Given the description of an element on the screen output the (x, y) to click on. 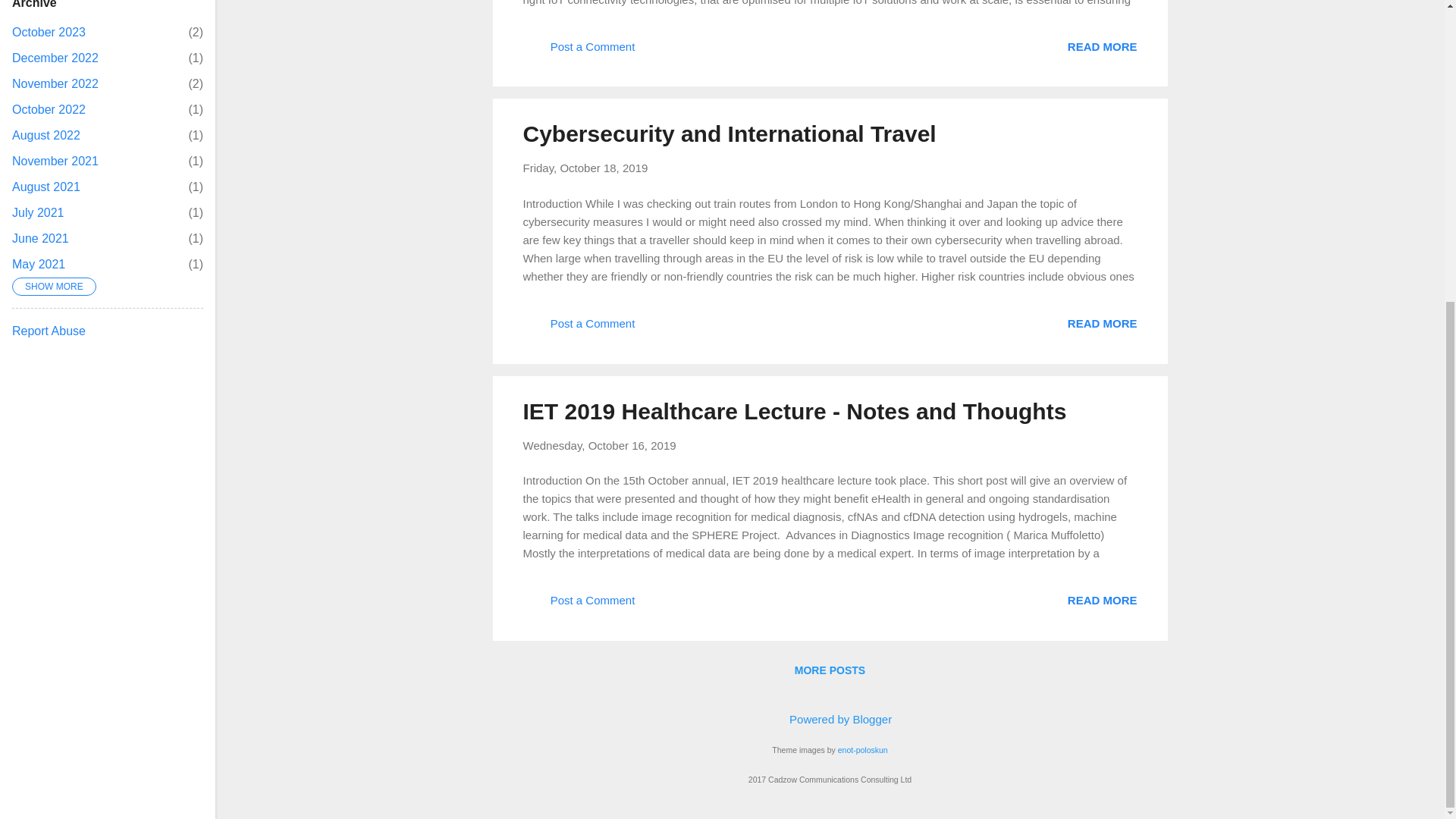
Post a Comment (578, 604)
Cybersecurity and International Travel (729, 133)
MORE POSTS (829, 670)
Powered by Blogger (829, 718)
READ MORE (1102, 323)
READ MORE (1102, 599)
IET 2019 Healthcare Lecture - Notes and Thoughts (794, 410)
enot-poloskun (863, 749)
Friday, October 18, 2019 (584, 167)
permanent link (584, 167)
